Given the description of an element on the screen output the (x, y) to click on. 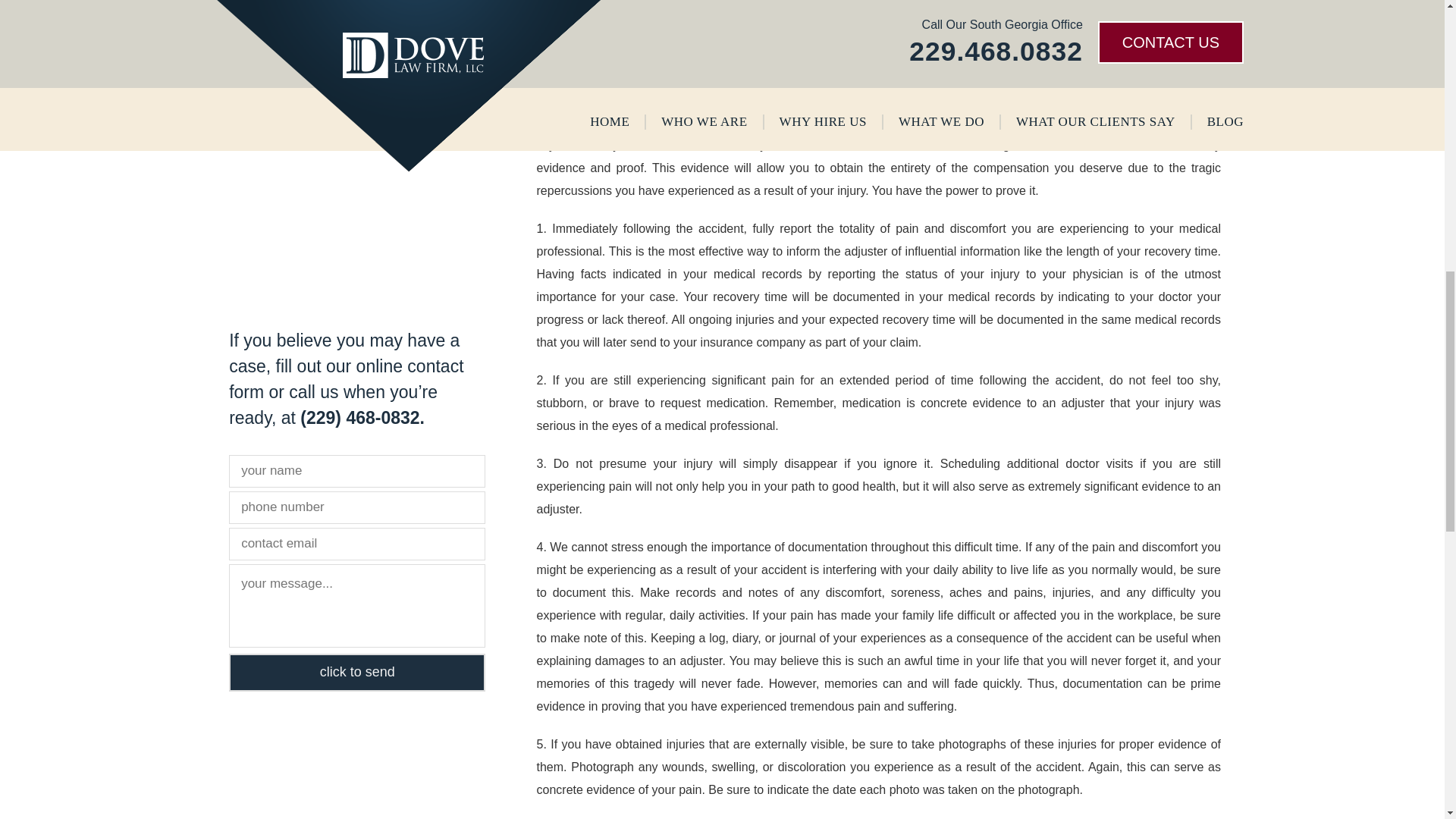
click to send (356, 672)
click to send (356, 672)
accident (900, 61)
Vehicle Accidents (294, 6)
